Given the description of an element on the screen output the (x, y) to click on. 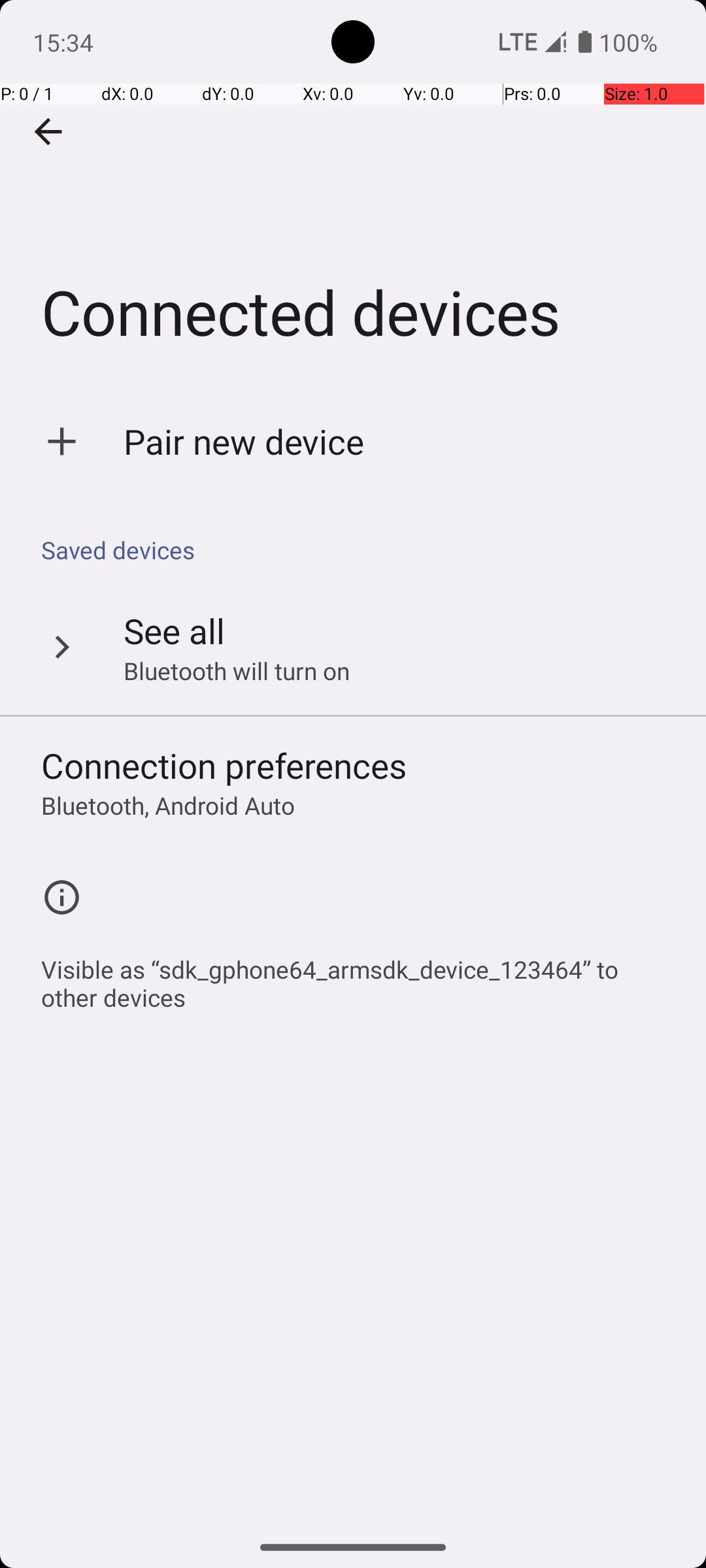
See all Element type: android.widget.TextView (173, 630)
Bluetooth will turn on Element type: android.widget.TextView (236, 670)
Bluetooth, Android Auto Element type: android.widget.TextView (167, 804)
Visible as “sdk_gphone64_armsdk_device_123464” to other devices Element type: android.widget.TextView (359, 976)
